Given the description of an element on the screen output the (x, y) to click on. 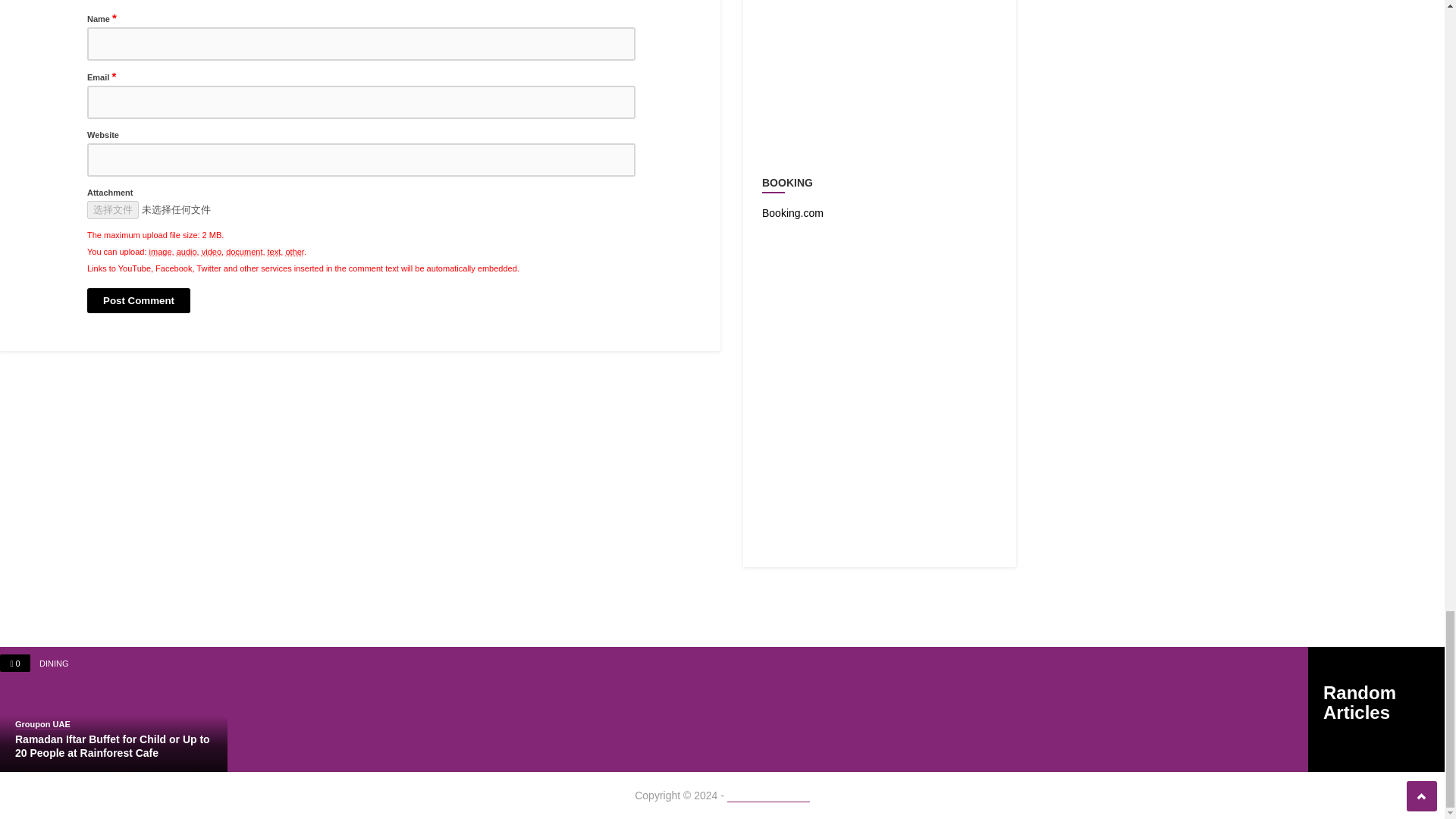
aac, flac (186, 251)
Post Comment (138, 300)
3gp, 3gpp, 3g2 (211, 251)
